Given the description of an element on the screen output the (x, y) to click on. 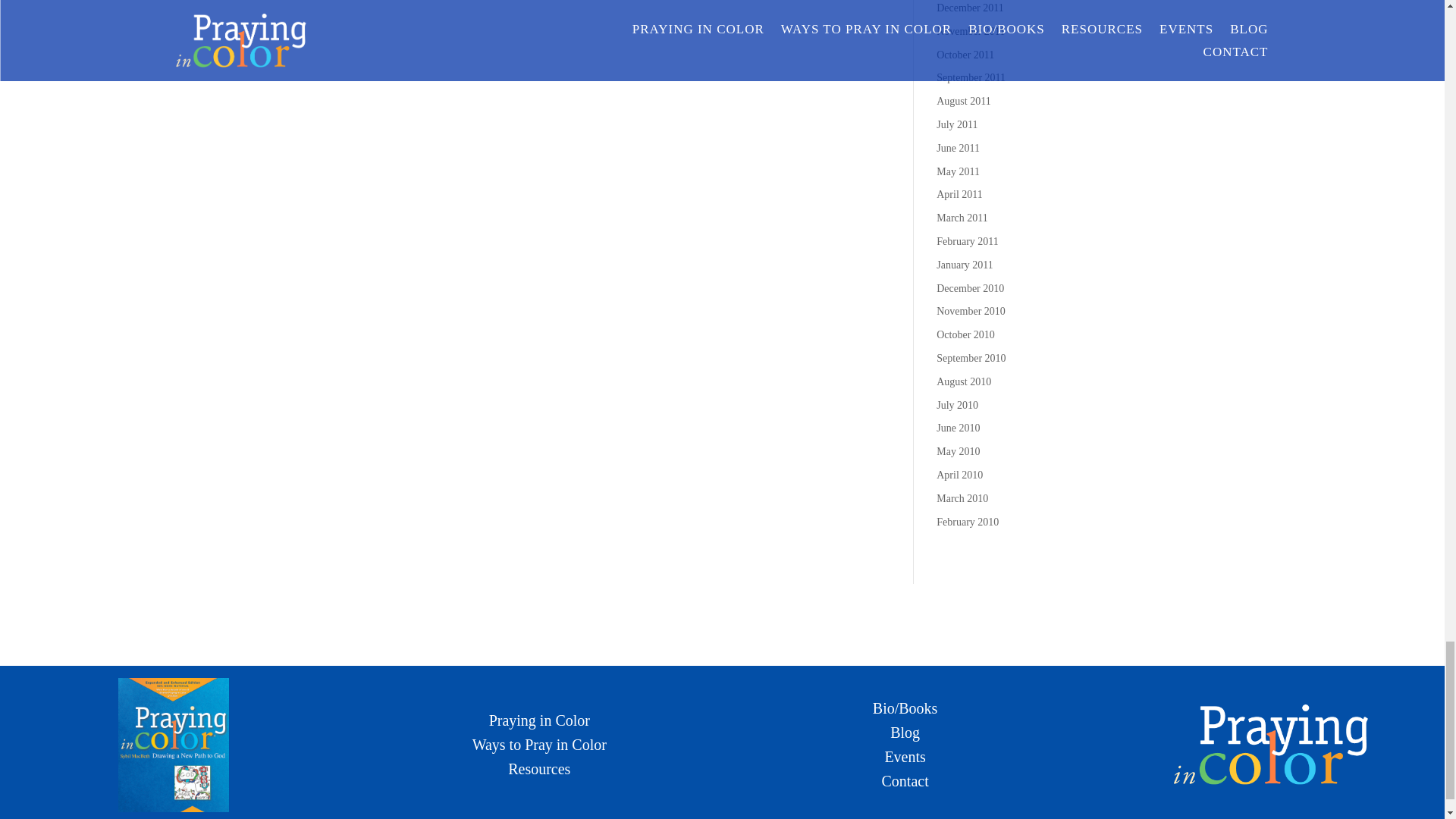
logo-praying-in-color-02 (1270, 744)
